Given the description of an element on the screen output the (x, y) to click on. 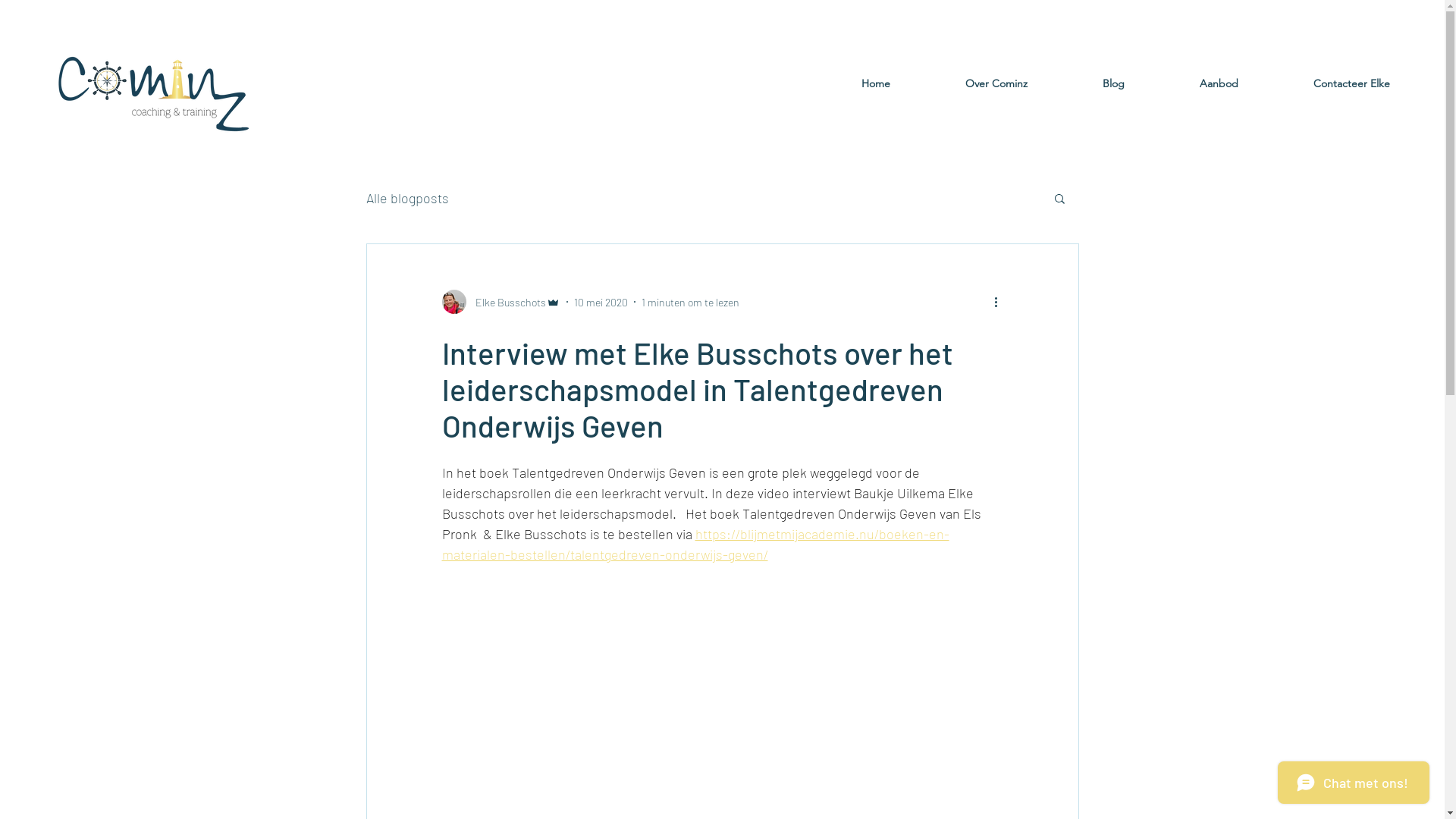
Contacteer Elke Element type: text (1321, 83)
Home Element type: text (845, 83)
Elke Busschots Element type: text (500, 301)
Alle blogposts Element type: text (406, 197)
Over Cominz Element type: text (966, 83)
Blog Element type: text (1083, 83)
